Given the description of an element on the screen output the (x, y) to click on. 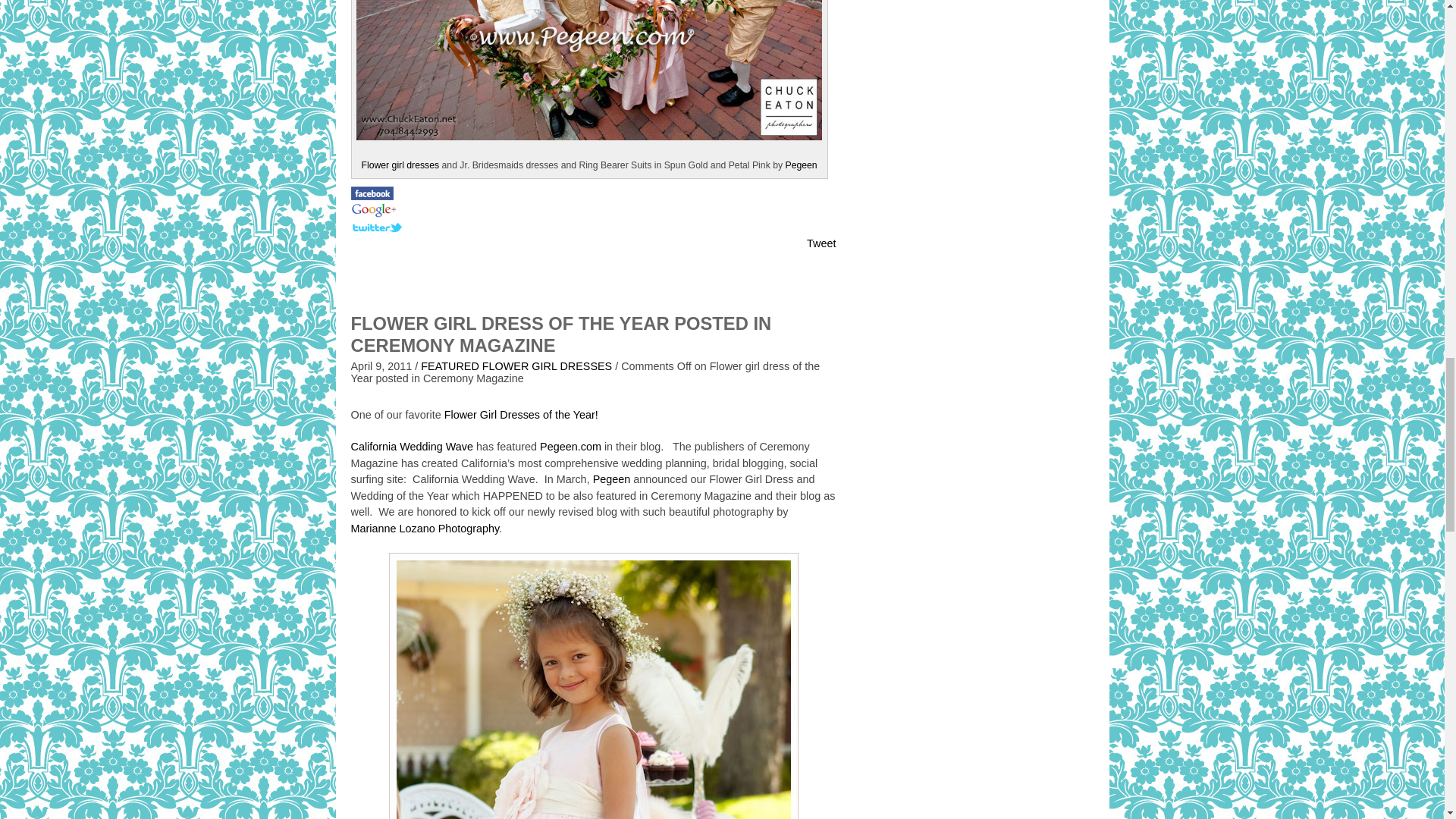
Flower girl dresses (400, 164)
Flower Girl Dresses by Pegeen (400, 164)
Pegeen (800, 164)
